Given the description of an element on the screen output the (x, y) to click on. 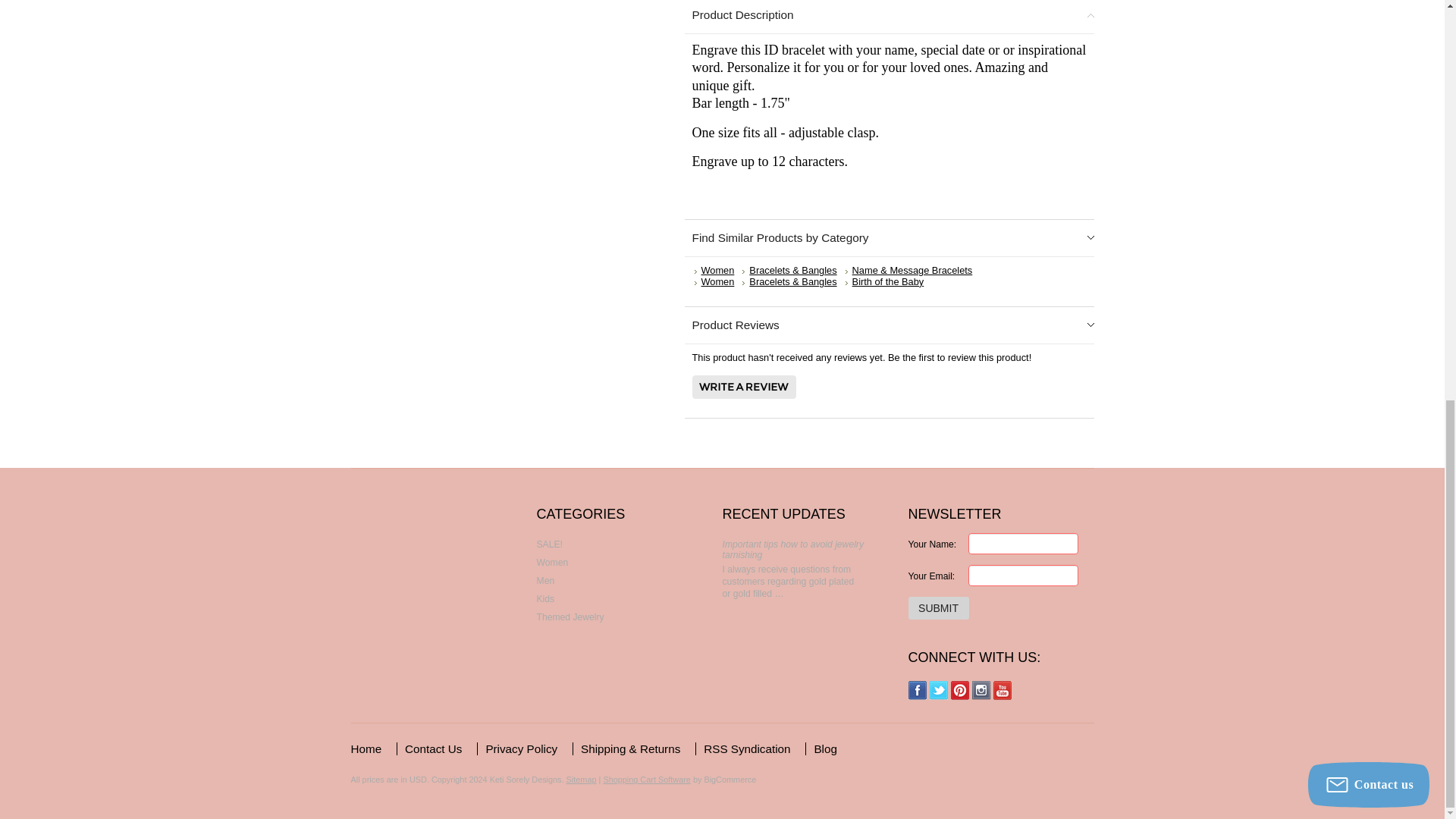
YouTube (1001, 690)
Default Currency (417, 778)
Submit (938, 608)
Pinterest (959, 690)
Twitter (939, 690)
Instagram (981, 690)
Facebook (917, 690)
